Given the description of an element on the screen output the (x, y) to click on. 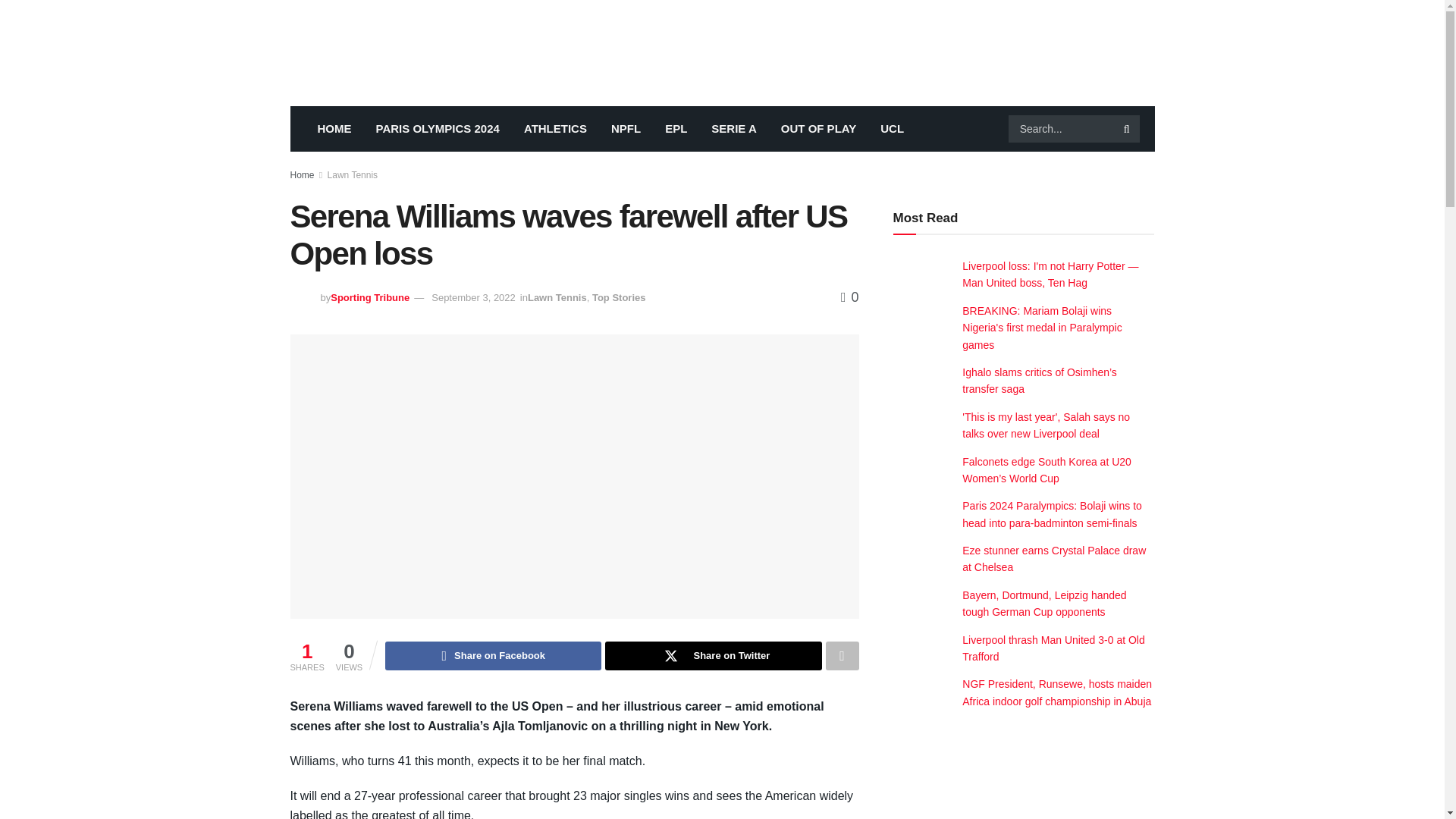
0 (850, 296)
NPFL (625, 128)
SERIE A (733, 128)
Share on Facebook (493, 655)
Home (301, 174)
Lawn Tennis (556, 297)
Top Stories (619, 297)
EPL (675, 128)
Sporting Tribune (369, 297)
Share on Twitter (713, 655)
